Given the description of an element on the screen output the (x, y) to click on. 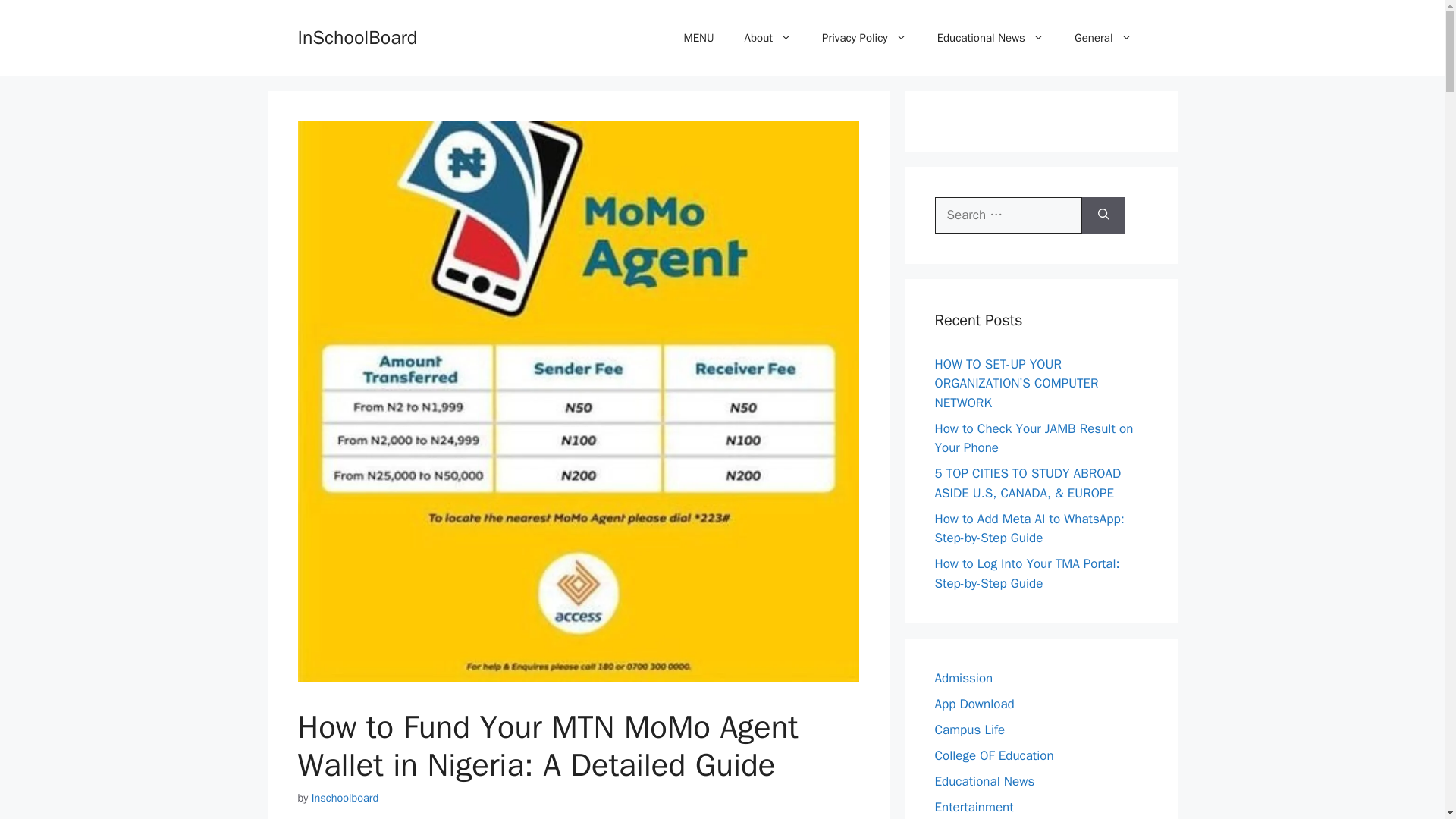
InSchoolBoard (356, 37)
MENU (698, 37)
Privacy Policy (863, 37)
Educational News (990, 37)
About (767, 37)
View all posts by Inschoolboard (344, 797)
General (1103, 37)
Inschoolboard (344, 797)
